Given the description of an element on the screen output the (x, y) to click on. 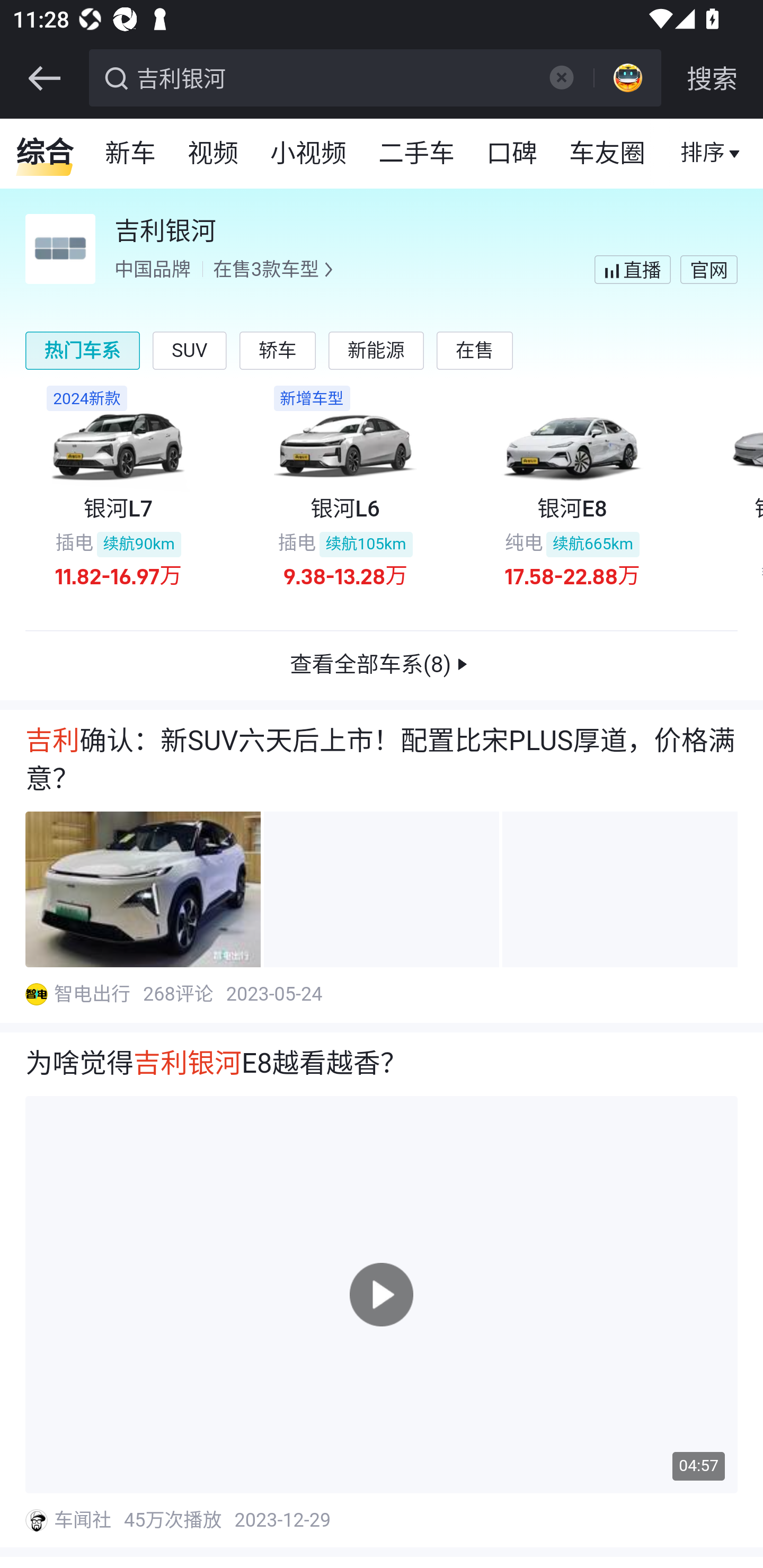
吉利银河 (331, 76)
 (560, 77)
 (44, 78)
搜索 (711, 78)
综合 (44, 153)
新车 (131, 153)
视频 (213, 153)
小视频 (308, 153)
二手车 (417, 153)
口碑 (512, 153)
车友圈 (608, 153)
直播 (703, 153)
ad4a08a4474cd134a33becb09dbdd293 直播 (631, 269)
官网 (708, 269)
热门车系 (83, 350)
SUV (189, 350)
轿车 (277, 350)
新能源 (375, 350)
在售 (474, 350)
2024新款 银河L7 插电续航90km 11.82-16.97万 (118, 495)
新增车型 银河L6 插电续航105km 9.38-13.28万 (344, 495)
银河E8 纯电续航665km 17.58-22.88万 (572, 495)
11.82-16.97万 (118, 575)
9.38-13.28万 (345, 575)
17.58-22.88万 (571, 575)
查看全部车系(8) (381, 666)
吉利确认：新SUV六天后上市！配置比宋PLUS厚道，价格满意？ (381, 760)
智电出行 (92, 994)
f82fe1e59eb3d089453cd964ba7f5939~300x300 (36, 994)
为啥觉得吉利银河E8越看越香？ (381, 1065)
车闻社 (83, 1520)
8c5f81f9cc80d85413180cef77a7fc9b~300x300 (36, 1520)
